Given the description of an element on the screen output the (x, y) to click on. 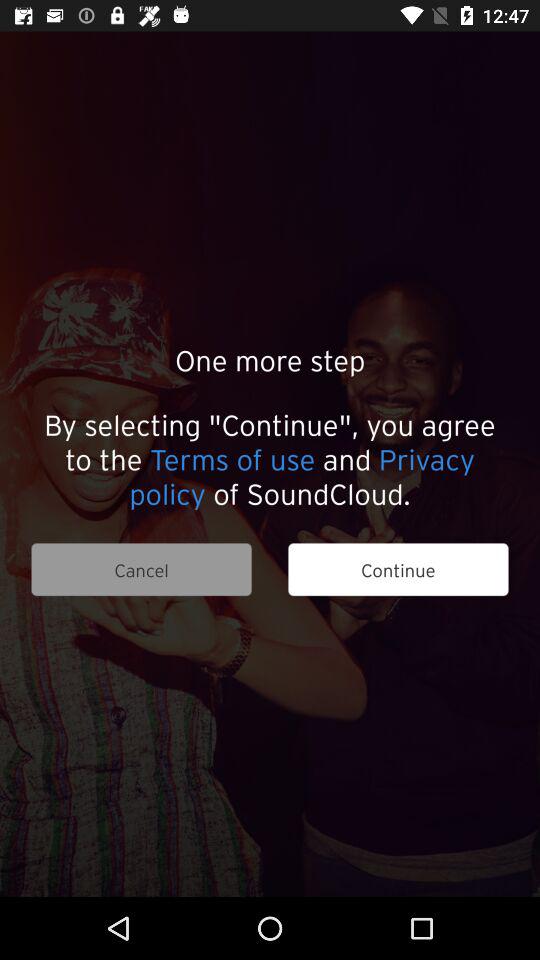
jump to cancel icon (141, 569)
